Given the description of an element on the screen output the (x, y) to click on. 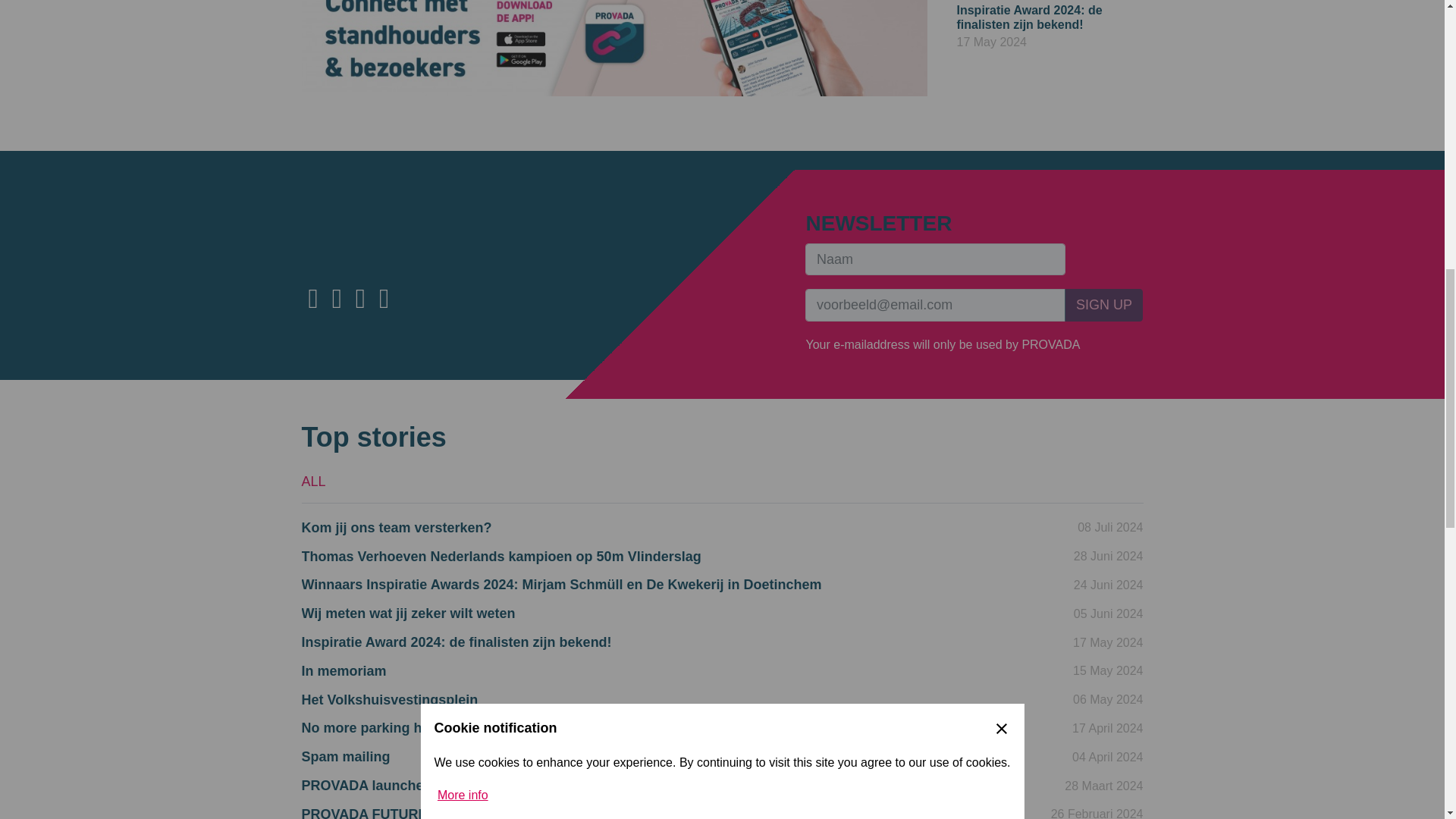
PROVADA app promotiebanner 1000x200px versie 01 (614, 48)
